Given the description of an element on the screen output the (x, y) to click on. 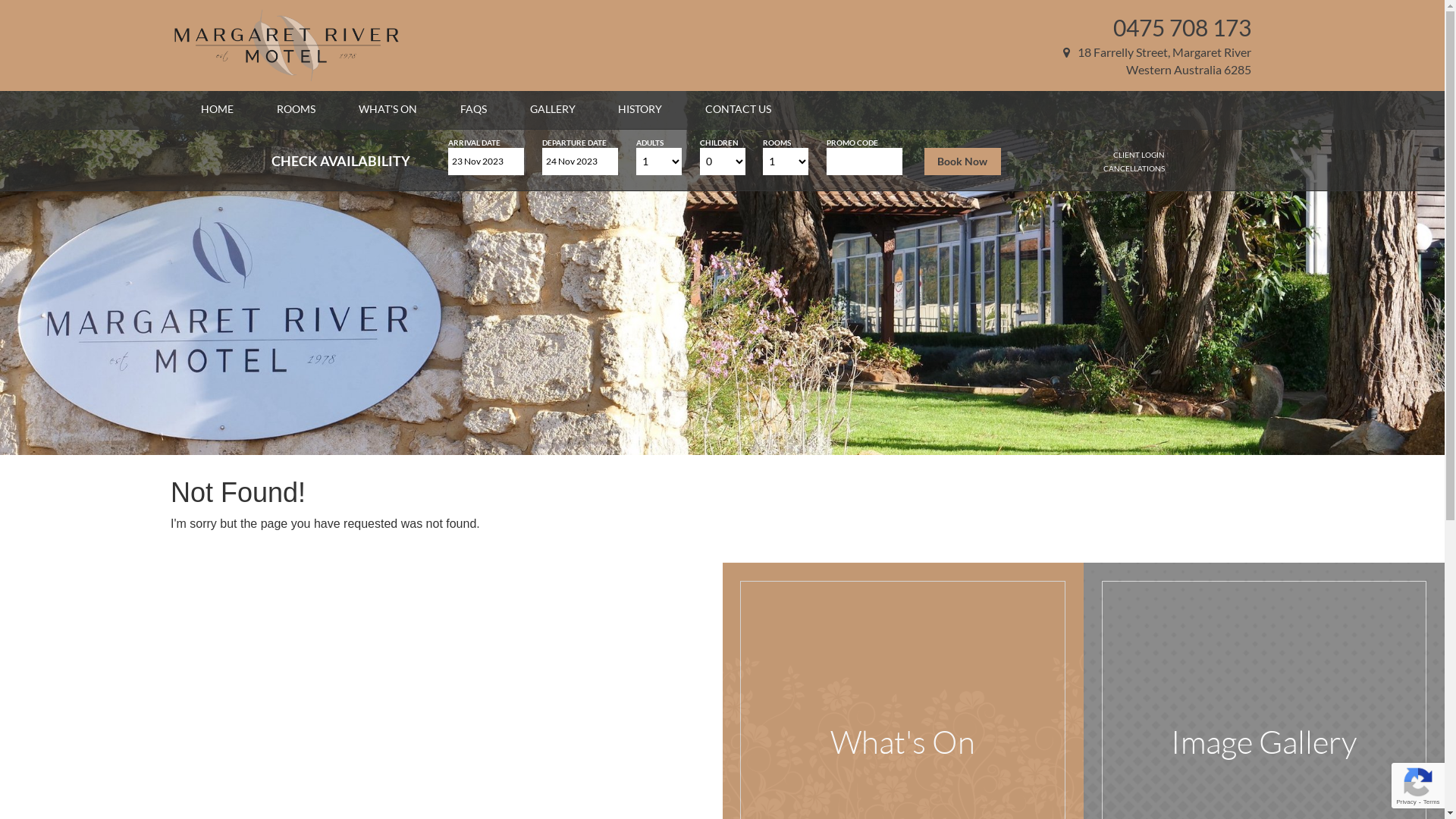
CLIENT LOGIN Element type: text (1138, 154)
GALLERY Element type: text (552, 109)
WHAT'S ON Element type: text (387, 109)
CONTACT US Element type: text (738, 109)
HISTORY Element type: text (640, 109)
ROOMS Element type: text (295, 109)
HOME Element type: text (216, 109)
FAQS Element type: text (473, 109)
0475 708 173 Element type: text (1182, 26)
Book Now Element type: text (962, 161)
CANCELLATIONS Element type: text (1133, 167)
18 Farrelly Street, Margaret River
Western Australia 6285 Element type: text (1157, 60)
